Given the description of an element on the screen output the (x, y) to click on. 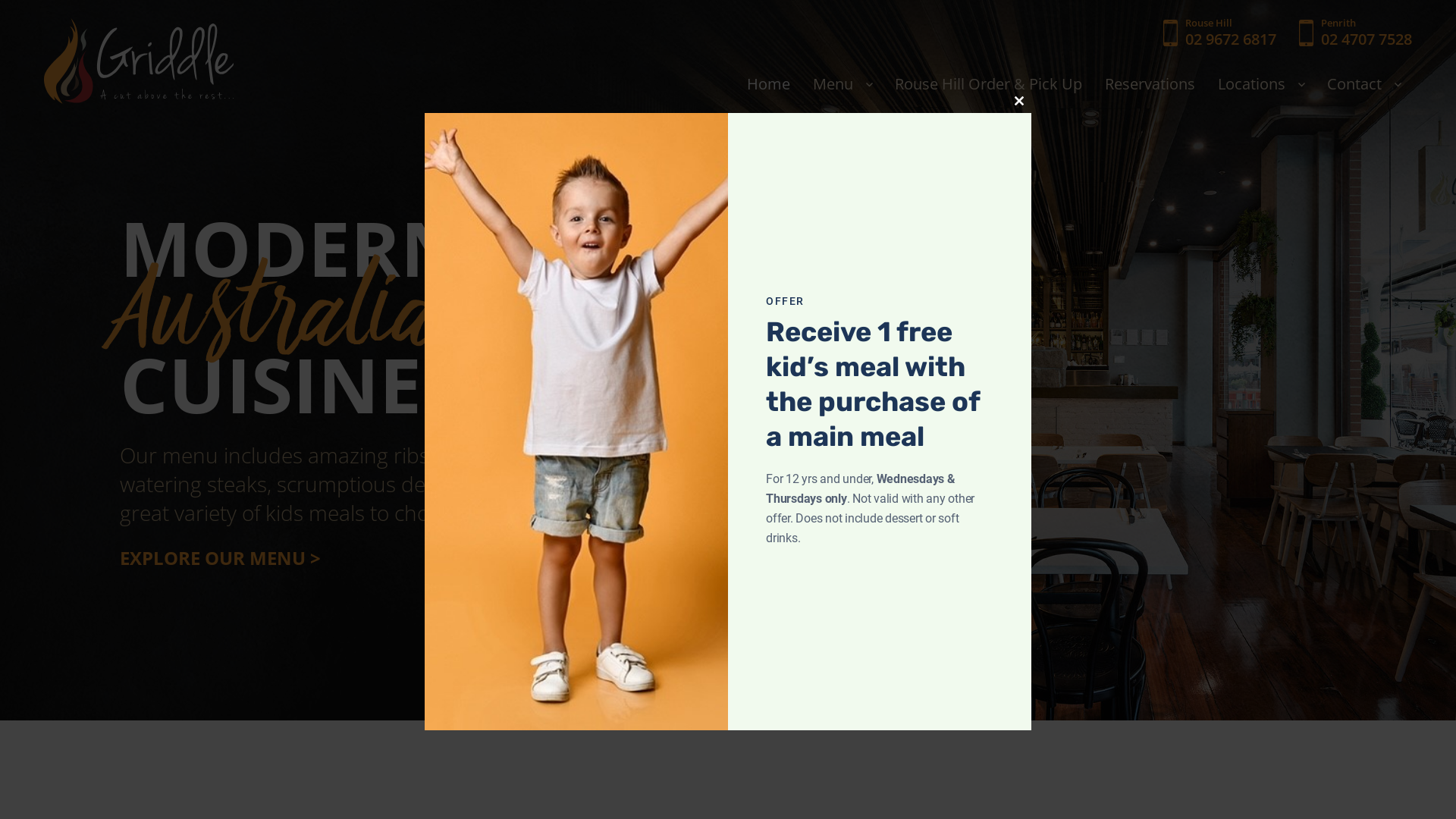
Contact Element type: text (1363, 84)
Rouse Hill Order & Pick Up Element type: text (988, 84)
CLOSE THIS MODULE Element type: text (1019, 100)
Home Element type: text (768, 84)
Reservations Element type: text (1149, 84)
Locations Element type: text (1260, 84)
Menu Element type: text (842, 84)
02 9672 6817 Element type: text (1230, 38)
02 4707 7528 Element type: text (1366, 38)
EXPLORE OUR MENU > Element type: text (219, 557)
